Given the description of an element on the screen output the (x, y) to click on. 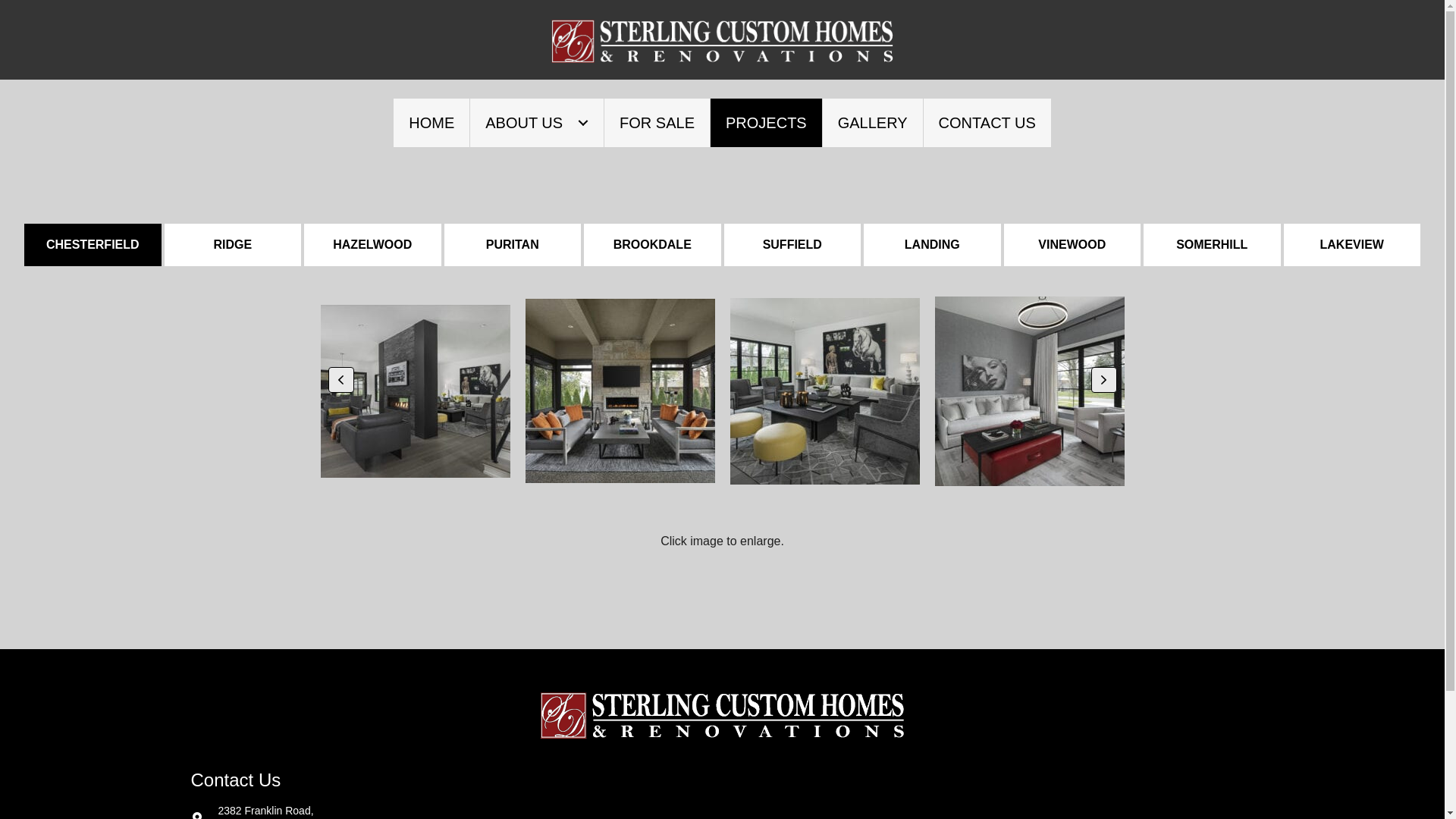
ABOUT US Element type: text (536, 122)
HOME Element type: text (431, 122)
Logo-for-Embroidery-nobg Element type: hover (722, 41)
CONTACT US Element type: text (987, 122)
FOR SALE Element type: text (656, 122)
Logo for Embroidery-go daddy Element type: hover (721, 715)
GALLERY Element type: text (872, 122)
PROJECTS Element type: text (766, 122)
